Given the description of an element on the screen output the (x, y) to click on. 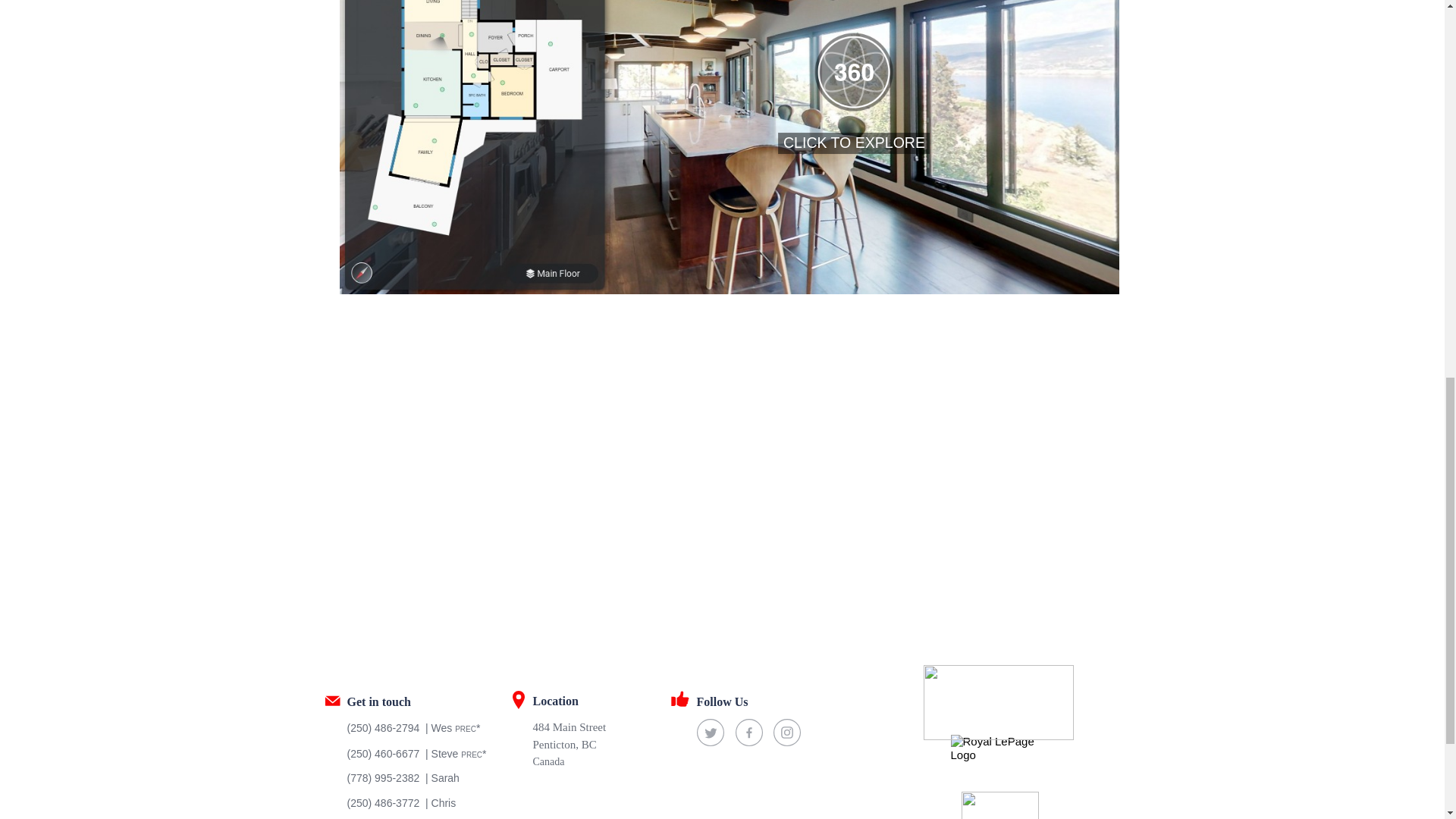
Get in touch (411, 700)
instagram-color-circle-outline (786, 732)
facebook-color-circle-outline (748, 732)
Location (596, 700)
twitter-color-circle-outline (709, 732)
instagram-color-circle-outline (786, 732)
Royal LePage Logo (998, 761)
facebook-color-circle-outline (748, 732)
twitter-color-circle-outline (709, 732)
